Given the description of an element on the screen output the (x, y) to click on. 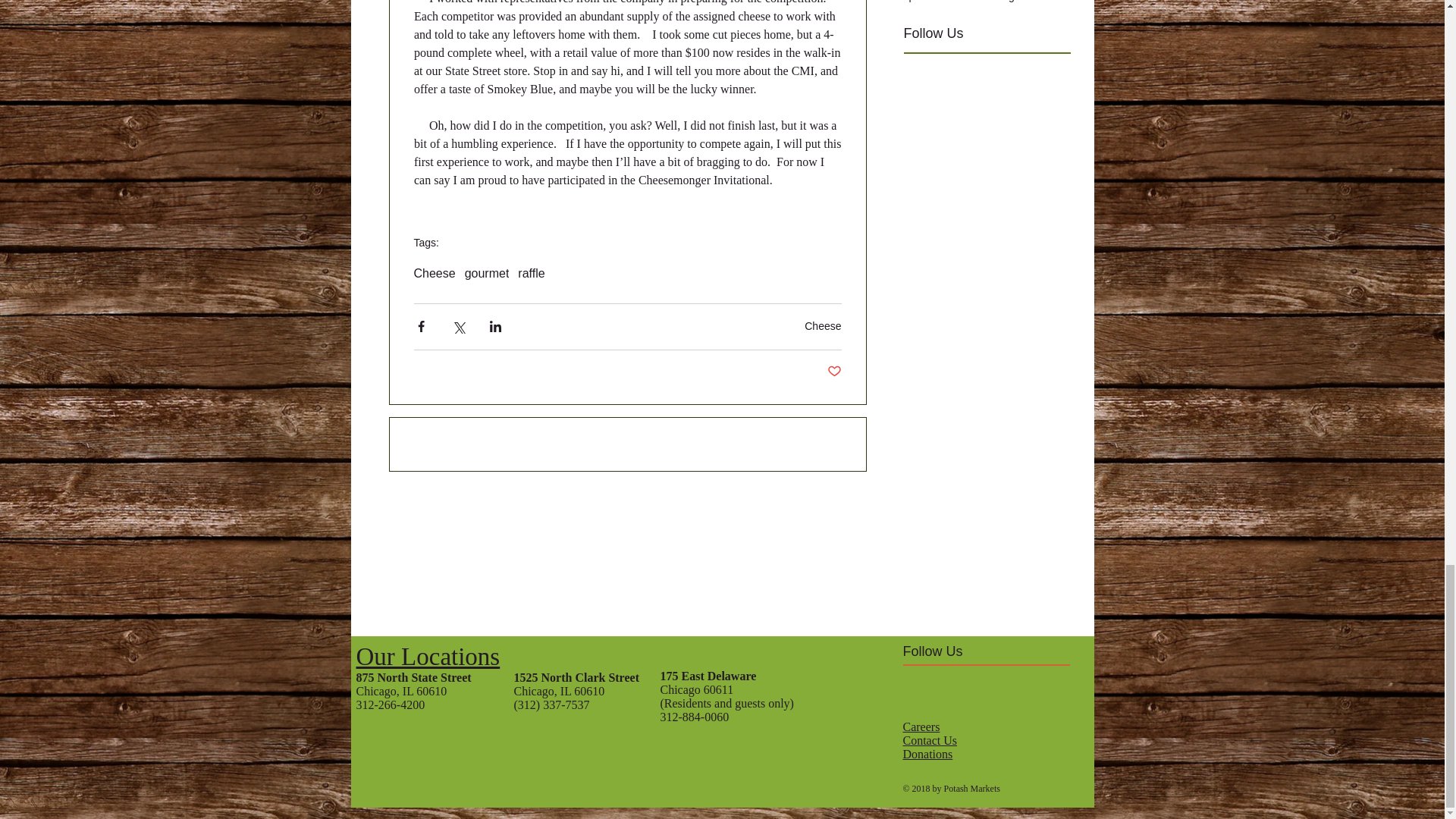
gourmet (486, 273)
Post not marked as liked (834, 371)
raffle (531, 273)
Cheese (823, 326)
Cheese (434, 273)
